Given the description of an element on the screen output the (x, y) to click on. 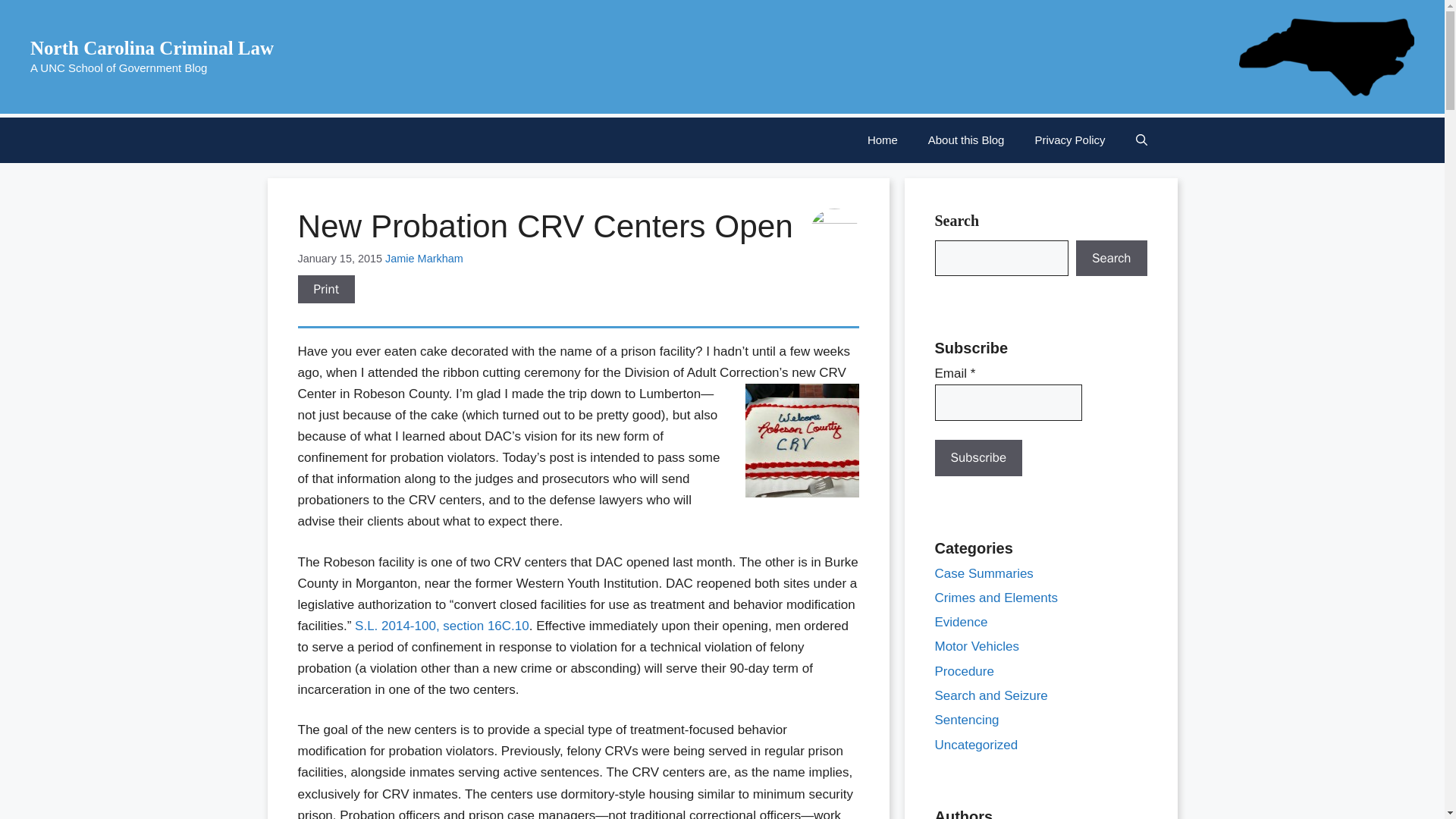
Posts by Jamie Markham (424, 258)
Jamie Markham (424, 258)
Privacy Policy (1069, 139)
S.L. 2014-100, section 16C.10 (442, 626)
About this Blog (966, 139)
Home (881, 139)
Subscribe (978, 457)
Print (326, 289)
North Carolina Criminal Law (151, 47)
